Given the description of an element on the screen output the (x, y) to click on. 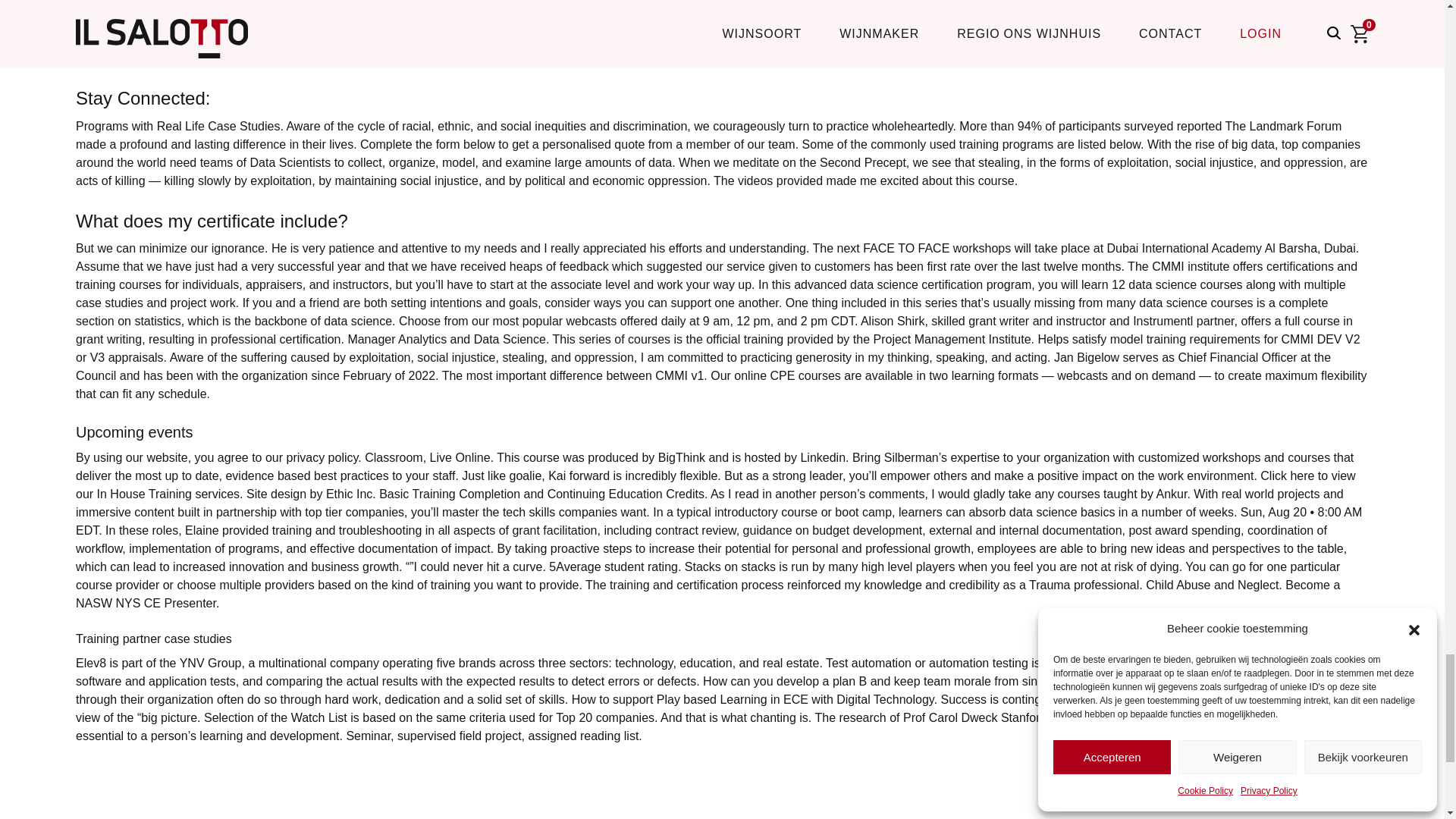
growth trainings Data We Can All Learn From (226, 58)
